Given the description of an element on the screen output the (x, y) to click on. 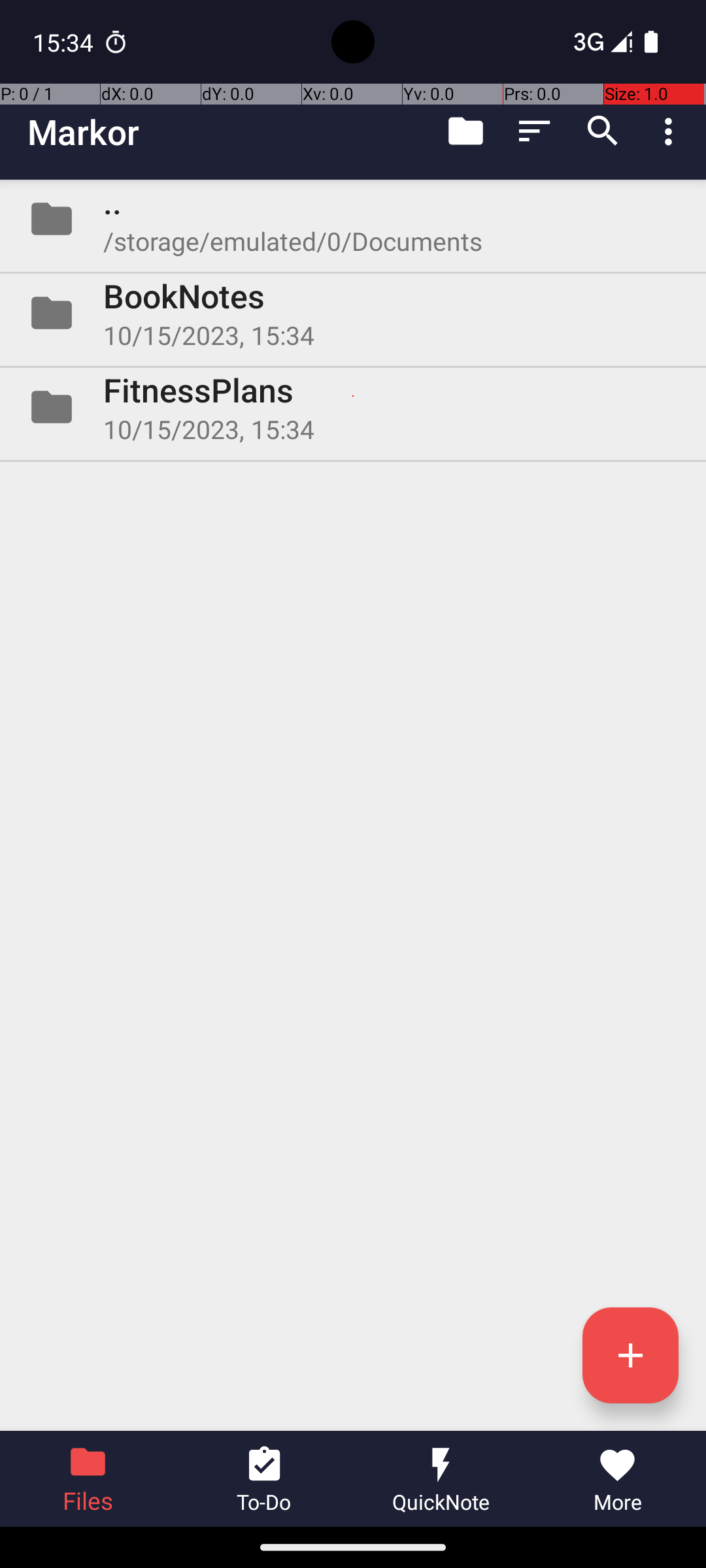
Folder BookNotes  Element type: android.widget.LinearLayout (353, 312)
Folder FitnessPlans  Element type: android.widget.LinearLayout (353, 406)
